Given the description of an element on the screen output the (x, y) to click on. 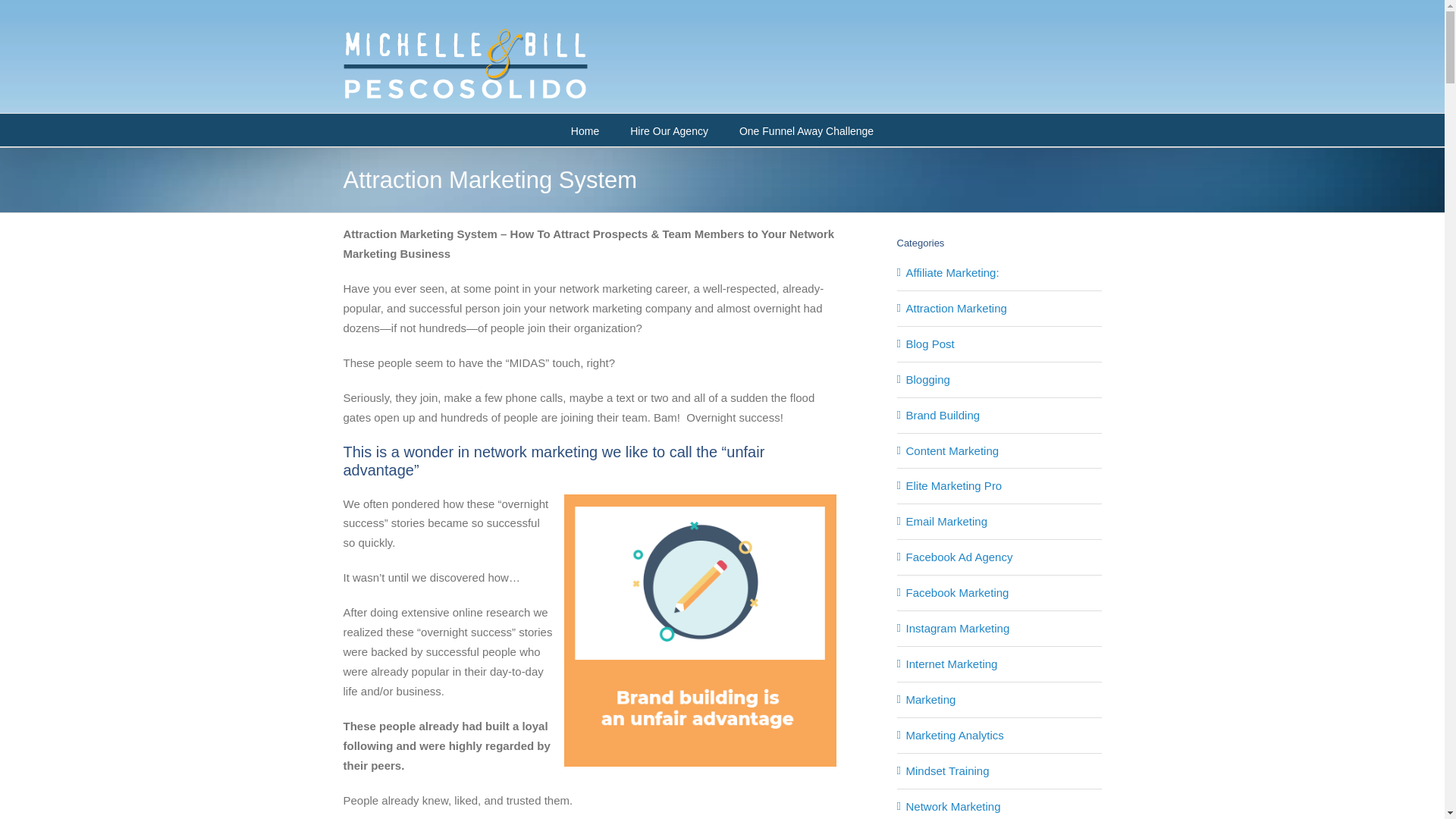
Blogging (999, 379)
Attraction Marketing (999, 308)
Affiliate Marketing: (999, 272)
Blog Post (999, 343)
Brand Building (999, 415)
Attraction Marketing System (699, 630)
One Funnel Away Challenge (806, 129)
Hire Our Agency (668, 129)
